Given the description of an element on the screen output the (x, y) to click on. 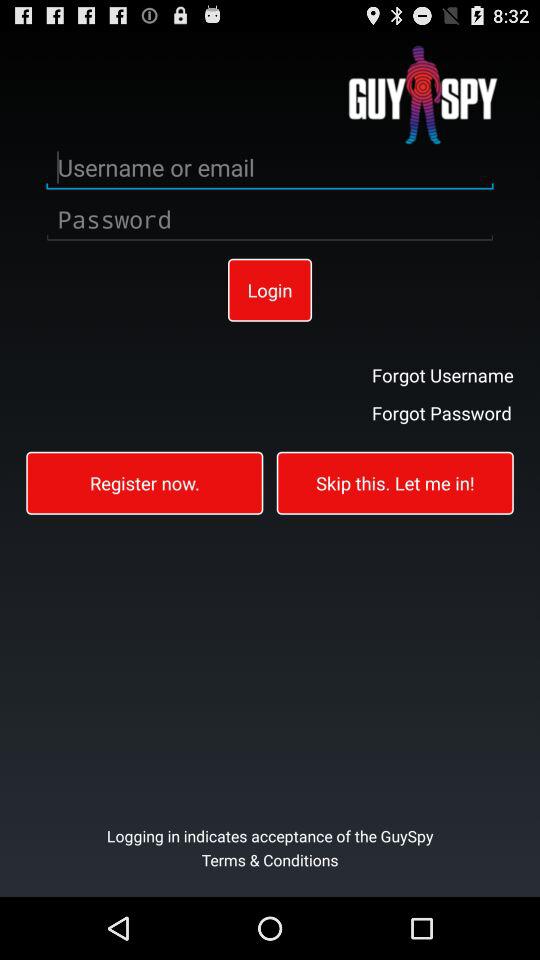
turn off button above skip this let item (442, 412)
